Given the description of an element on the screen output the (x, y) to click on. 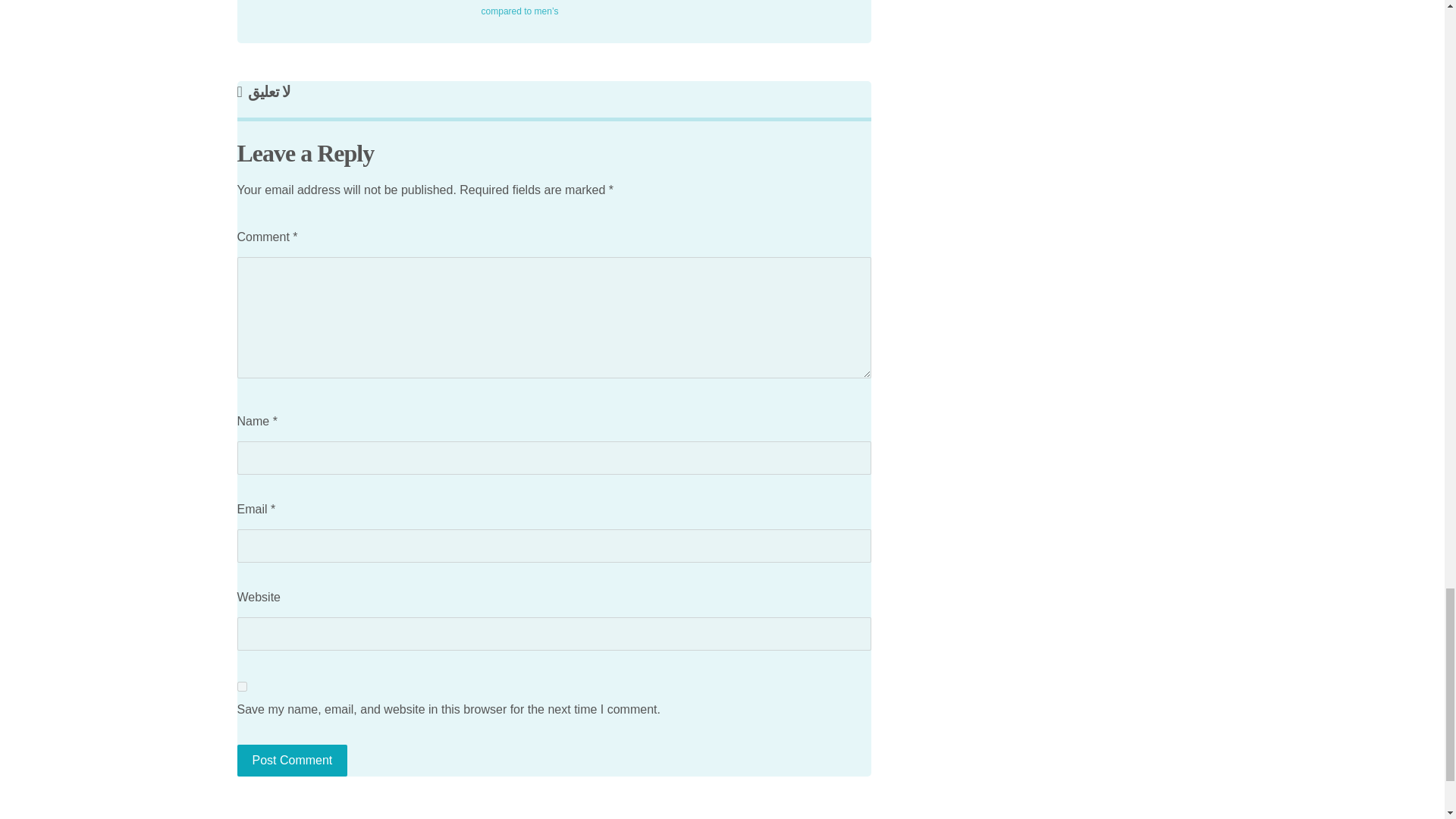
yes (240, 686)
Post Comment (291, 760)
